Given the description of an element on the screen output the (x, y) to click on. 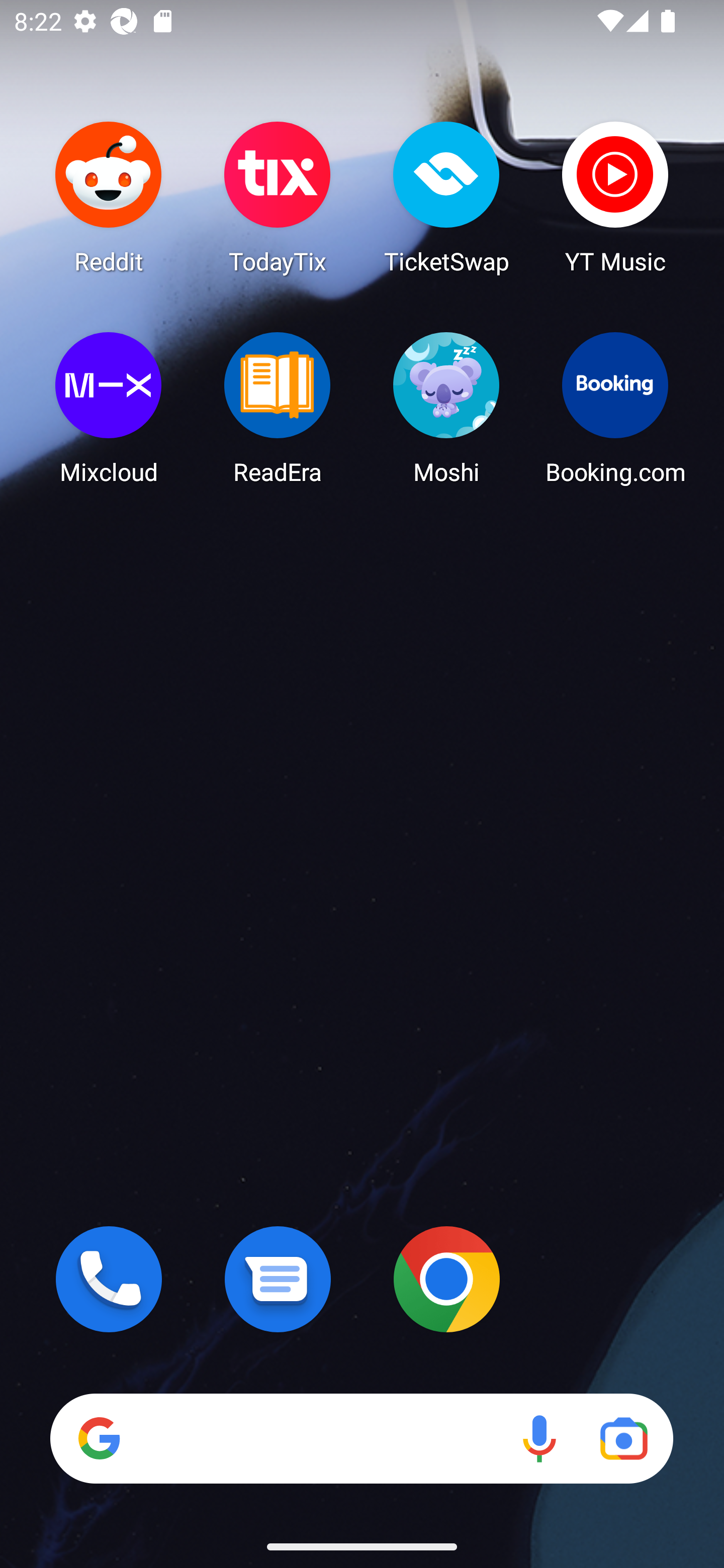
Reddit (108, 196)
TodayTix (277, 196)
TicketSwap (445, 196)
YT Music (615, 196)
Mixcloud (108, 407)
ReadEra (277, 407)
Moshi (445, 407)
Booking.com (615, 407)
Phone (108, 1279)
Messages (277, 1279)
Chrome (446, 1279)
Search Voice search Google Lens (361, 1438)
Voice search (539, 1438)
Google Lens (623, 1438)
